Given the description of an element on the screen output the (x, y) to click on. 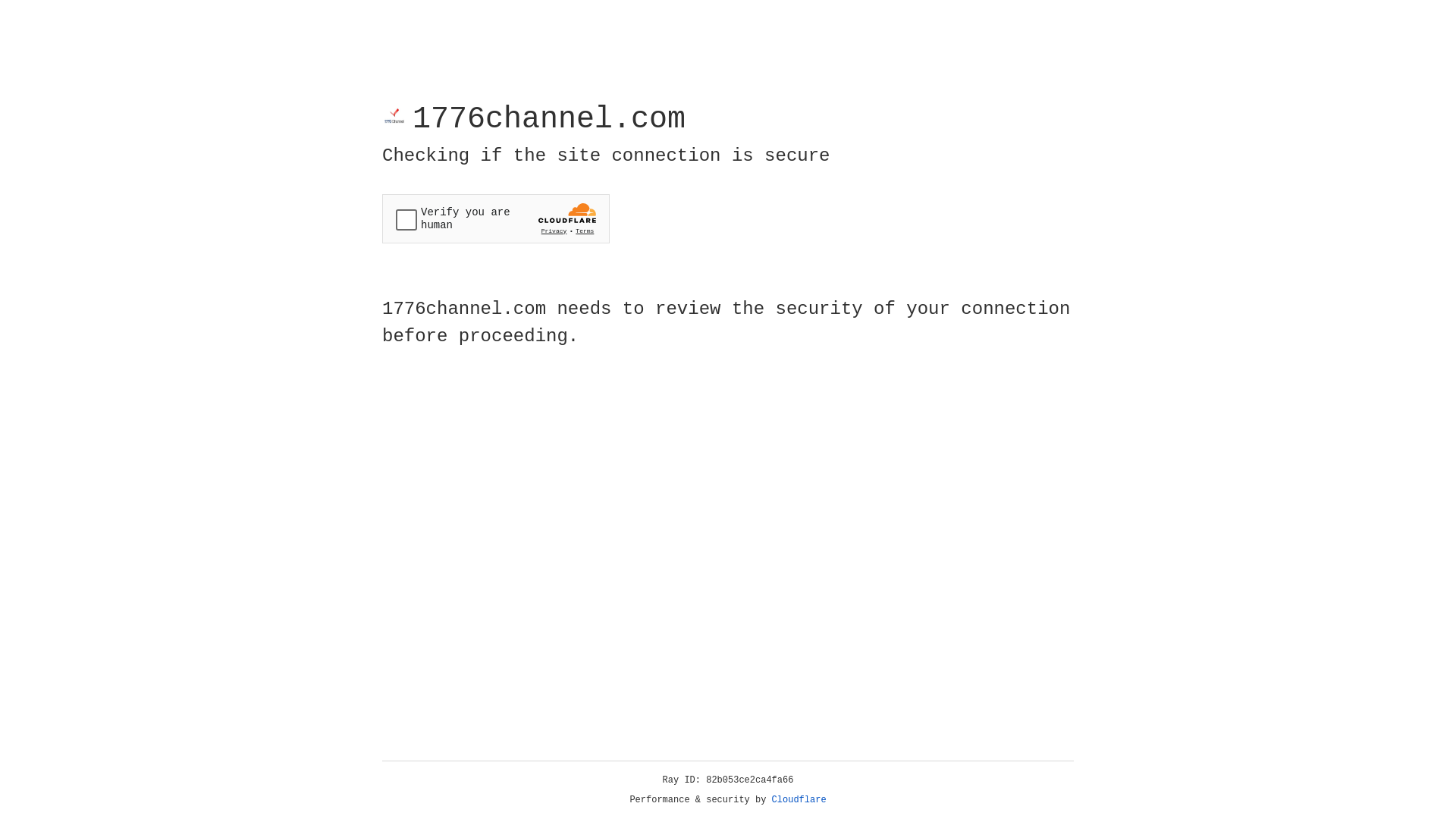
Widget containing a Cloudflare security challenge Element type: hover (495, 218)
Cloudflare Element type: text (798, 799)
